Given the description of an element on the screen output the (x, y) to click on. 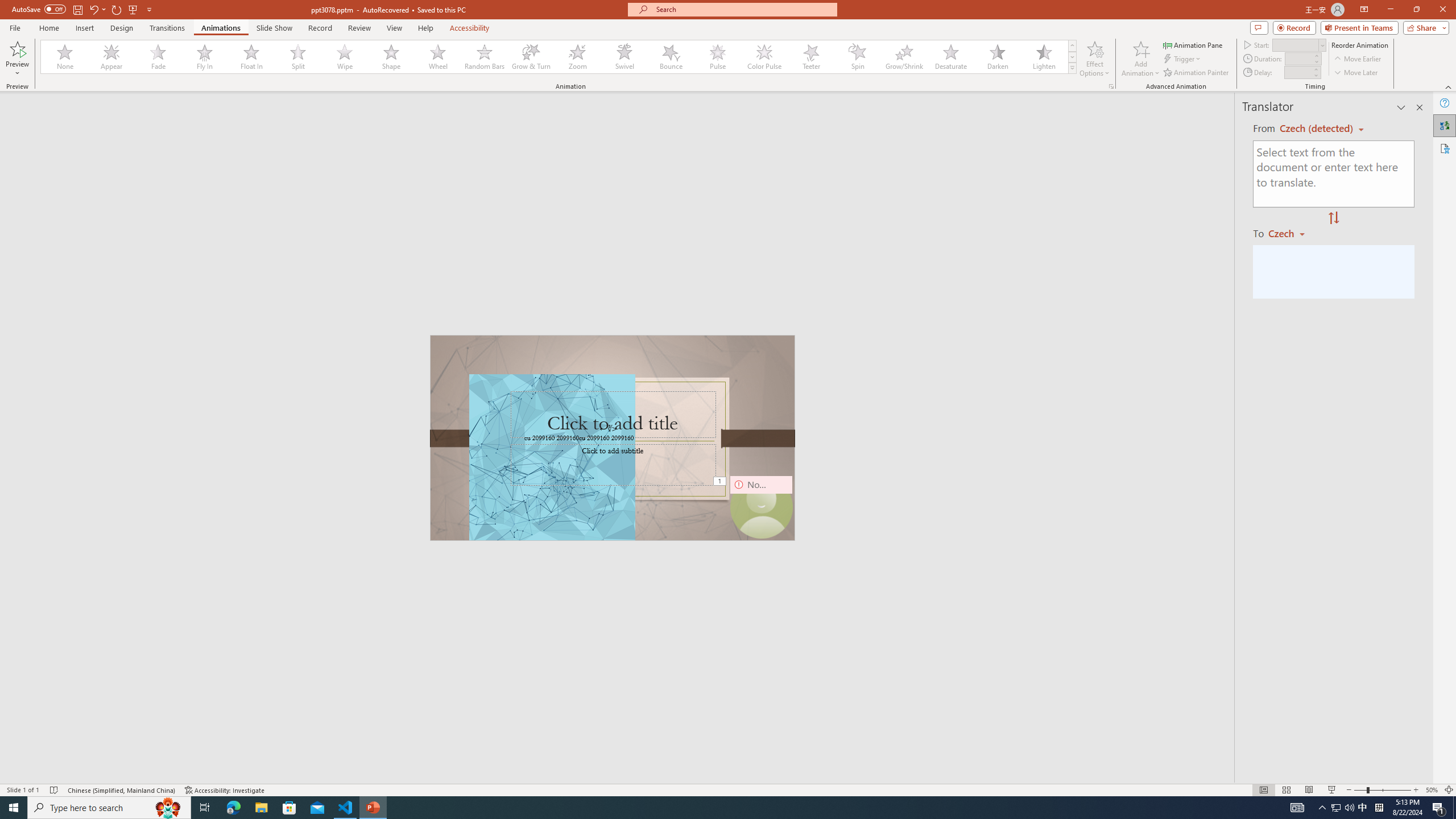
Desaturate (950, 56)
Animation, sequence 1, on Camera 9 (720, 481)
Trigger (1182, 58)
Shape (391, 56)
Czech (detected) (1317, 128)
Add Animation (1141, 58)
Darken (997, 56)
